Given the description of an element on the screen output the (x, y) to click on. 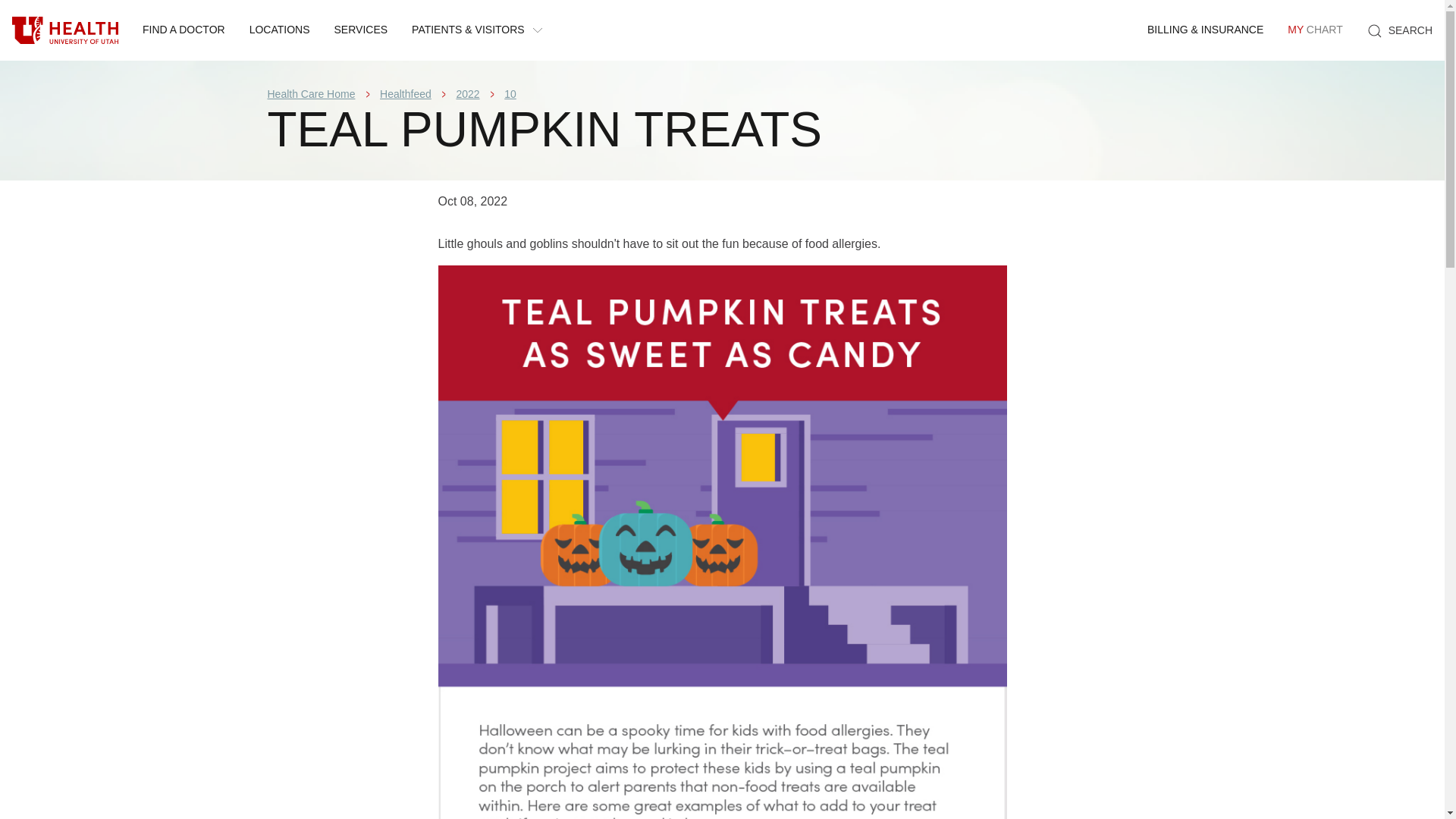
LOCATIONS (279, 30)
2022 (467, 93)
SERVICES (360, 30)
Healthfeed (405, 93)
SEARCH (1399, 30)
FIND A DOCTOR (184, 30)
Health Care Home (310, 93)
10 (509, 93)
